Given the description of an element on the screen output the (x, y) to click on. 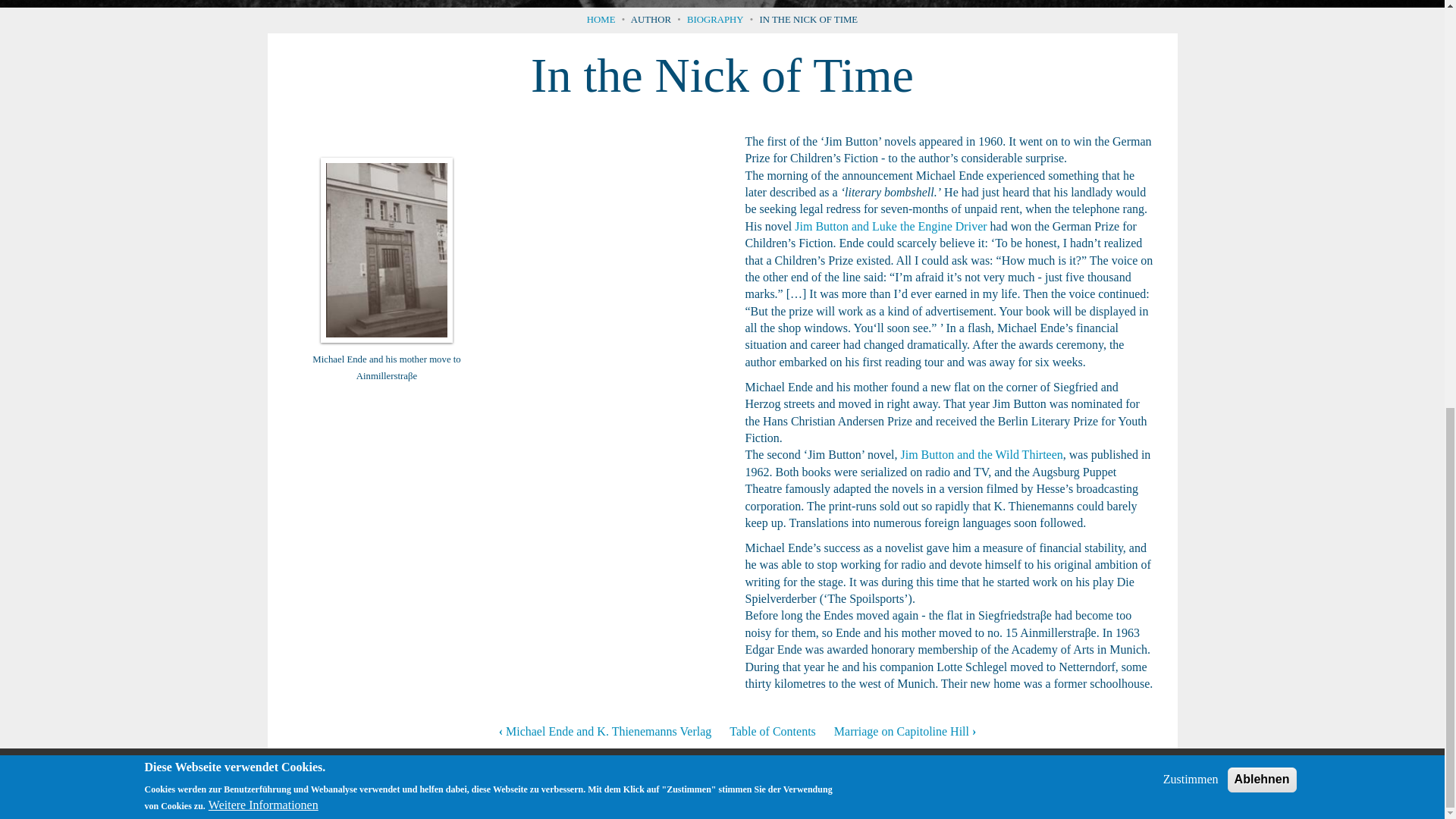
Impressum (1068, 779)
www.michaelende.de (177, 779)
Go to next page (905, 730)
Go to parent page (772, 730)
Go to previous page (605, 730)
BIOGRAPHY (715, 19)
Weitere Informationen (263, 1)
Jim Button and the Wild Thirteen (981, 454)
HOME (600, 19)
Table of Contents (772, 730)
Contact (996, 779)
Jim Button and Luke the Engine Driver (890, 226)
